Given the description of an element on the screen output the (x, y) to click on. 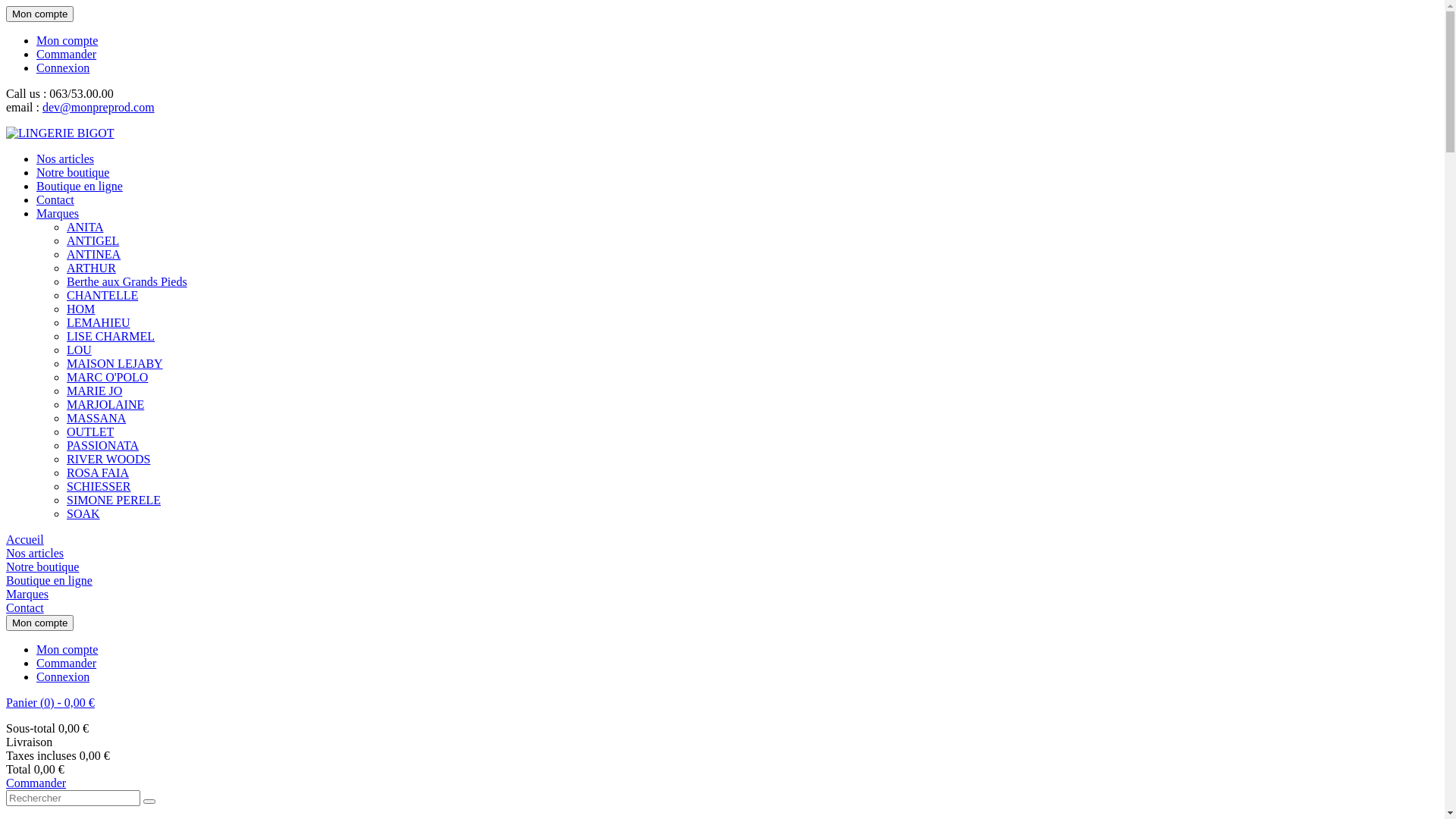
MARC O'POLO Element type: text (106, 376)
HOM Element type: text (80, 308)
Contact Element type: text (55, 199)
LOU Element type: text (78, 349)
ANITA Element type: text (84, 226)
MAISON LEJABY Element type: text (114, 363)
Mon compte Element type: text (39, 622)
RIVER WOODS Element type: text (108, 458)
SOAK Element type: text (83, 513)
Berthe aux Grands Pieds Element type: text (126, 281)
SCHIESSER Element type: text (98, 486)
PASSIONATA Element type: text (102, 445)
Accueil Element type: text (24, 539)
MASSANA Element type: text (95, 417)
Marques Element type: text (57, 213)
Boutique en ligne Element type: text (79, 185)
ANTIGEL Element type: text (92, 240)
Notre boutique Element type: text (72, 172)
ARTHUR Element type: text (91, 267)
CHANTELLE Element type: text (102, 294)
Connexion Element type: text (62, 676)
MARJOLAINE Element type: text (105, 404)
Contact Element type: text (24, 607)
MARIE JO Element type: text (94, 390)
ROSA FAIA Element type: text (97, 472)
Connexion Element type: text (62, 67)
Commander Element type: text (35, 782)
Mon compte Element type: text (66, 649)
Commander Element type: text (66, 662)
Nos articles Element type: text (34, 552)
SIMONE PERELE Element type: text (113, 499)
Nos articles Element type: text (65, 158)
ANTINEA Element type: text (93, 253)
Commander Element type: text (66, 53)
Notre boutique Element type: text (42, 566)
dev@monpreprod.com Element type: text (98, 106)
OUTLET Element type: text (89, 431)
Mon compte Element type: text (39, 13)
Boutique en ligne Element type: text (49, 580)
LISE CHARMEL Element type: text (110, 335)
LEMAHIEU Element type: text (98, 322)
Mon compte Element type: text (66, 40)
Marques Element type: text (27, 593)
